Given the description of an element on the screen output the (x, y) to click on. 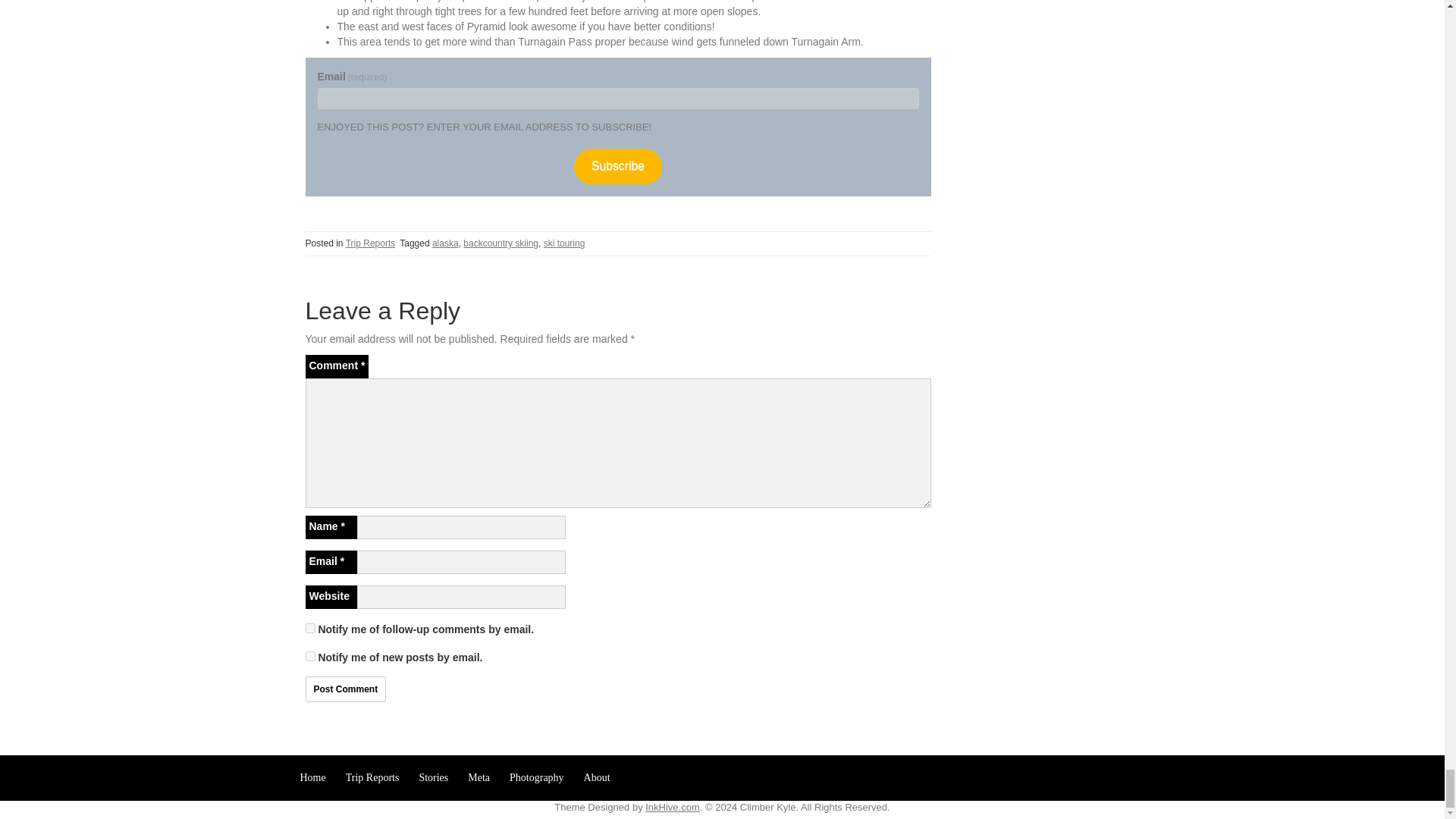
backcountry skiing (500, 243)
ski touring (564, 243)
Post Comment (344, 688)
Post Comment (344, 688)
alaska (445, 243)
Trip Reports (371, 243)
subscribe (309, 628)
subscribe (309, 655)
Subscribe (617, 166)
